Given the description of an element on the screen output the (x, y) to click on. 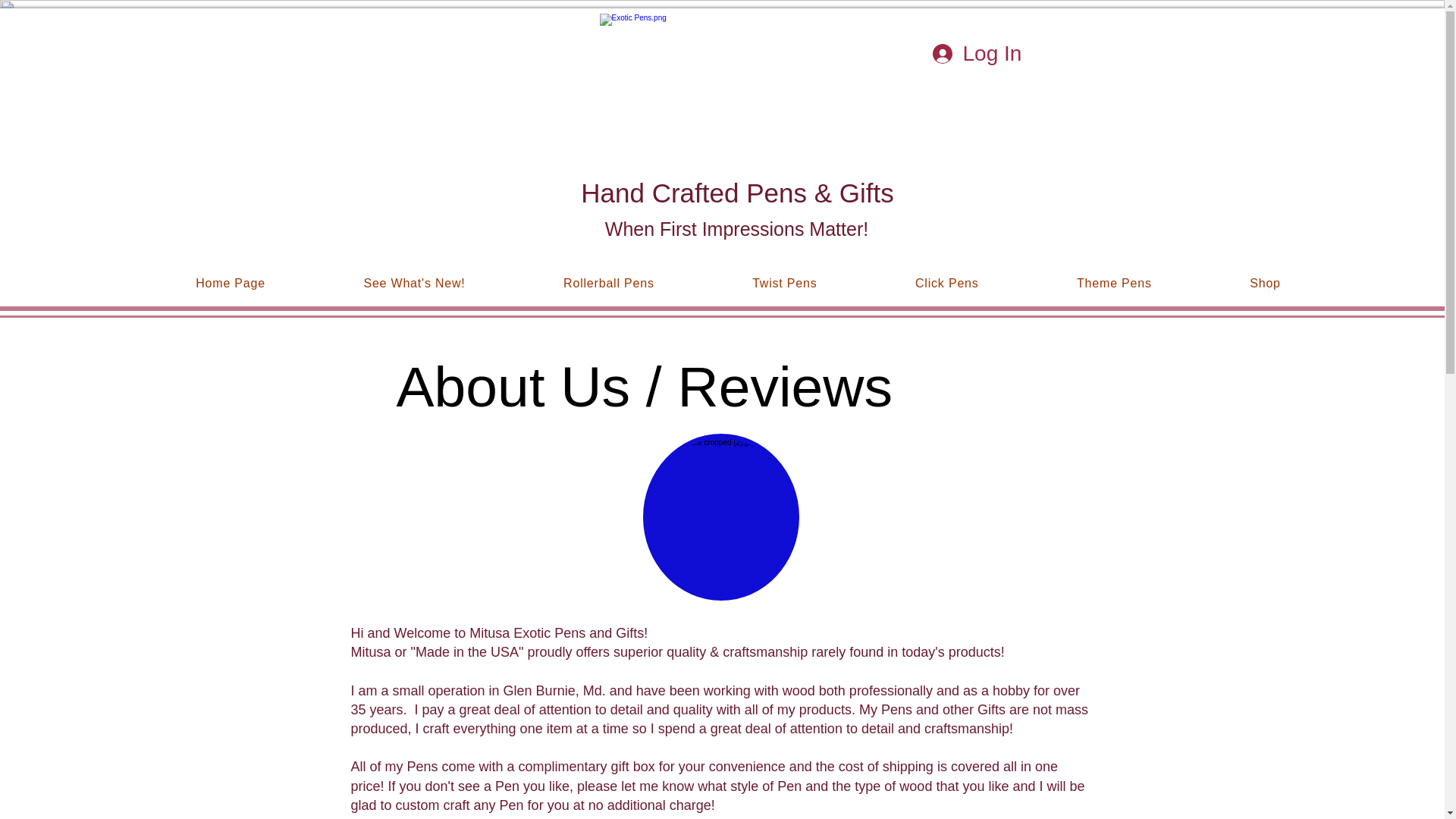
Click Pens (947, 283)
See What's New! (414, 283)
Theme Pens (1113, 283)
Shop (1265, 283)
Rollerball Pens (608, 283)
Home Page (230, 283)
Log In (967, 53)
Mitusa is Made in the USA (736, 105)
Twist Pens (784, 283)
